Given the description of an element on the screen output the (x, y) to click on. 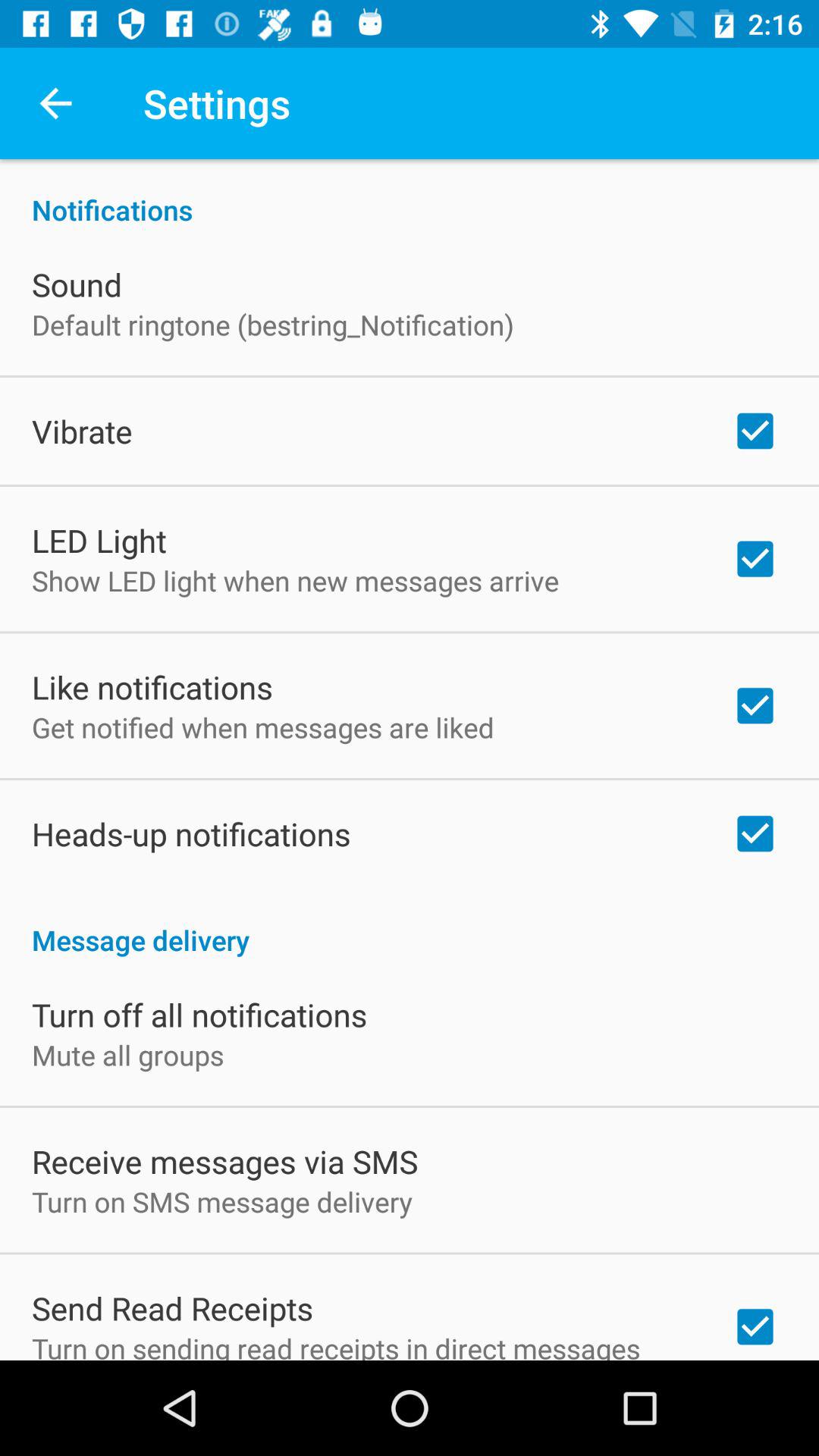
open icon below message delivery (199, 1014)
